Given the description of an element on the screen output the (x, y) to click on. 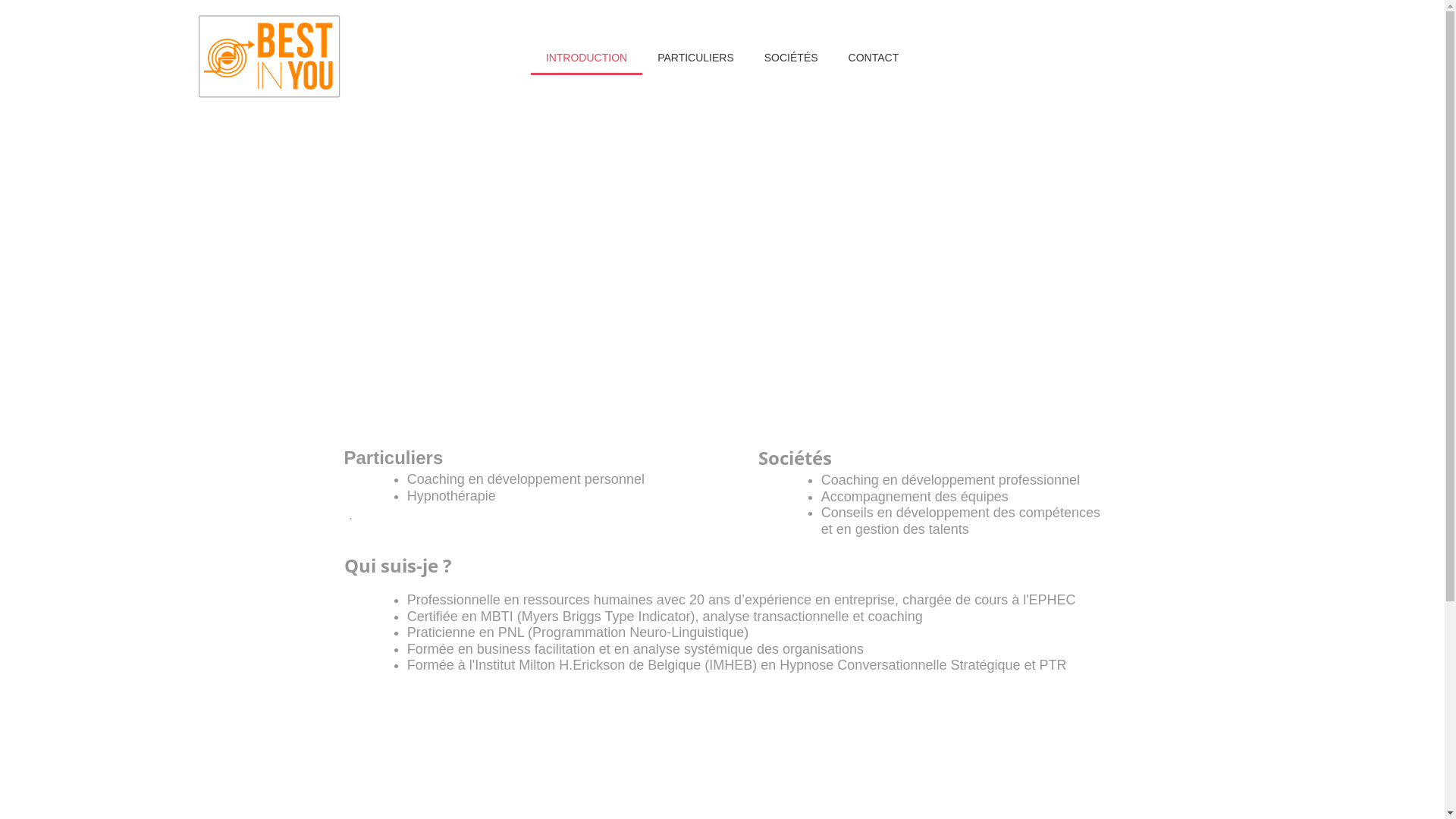
CONTACT Element type: text (873, 58)
Best in you Element type: hover (269, 58)
INTRODUCTION Element type: text (586, 58)
PARTICULIERS Element type: text (695, 58)
